Given the description of an element on the screen output the (x, y) to click on. 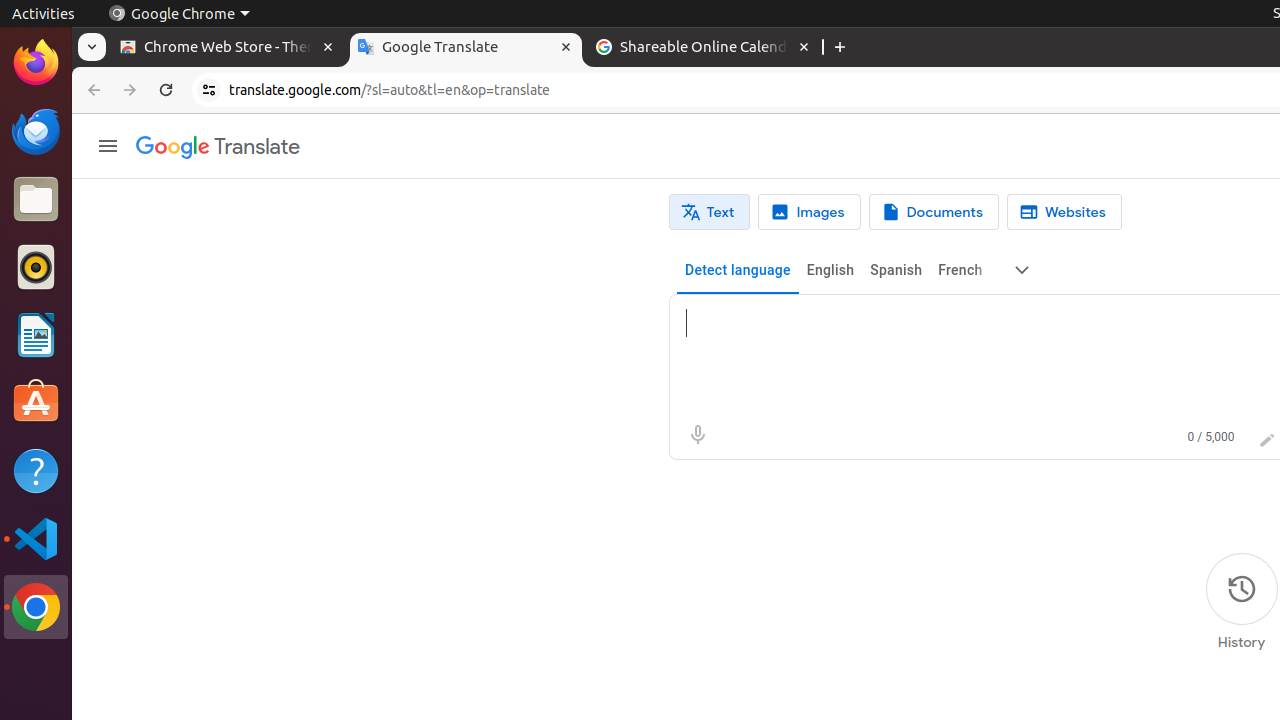
Source text Element type: combo-box (968, 323)
